Given the description of an element on the screen output the (x, y) to click on. 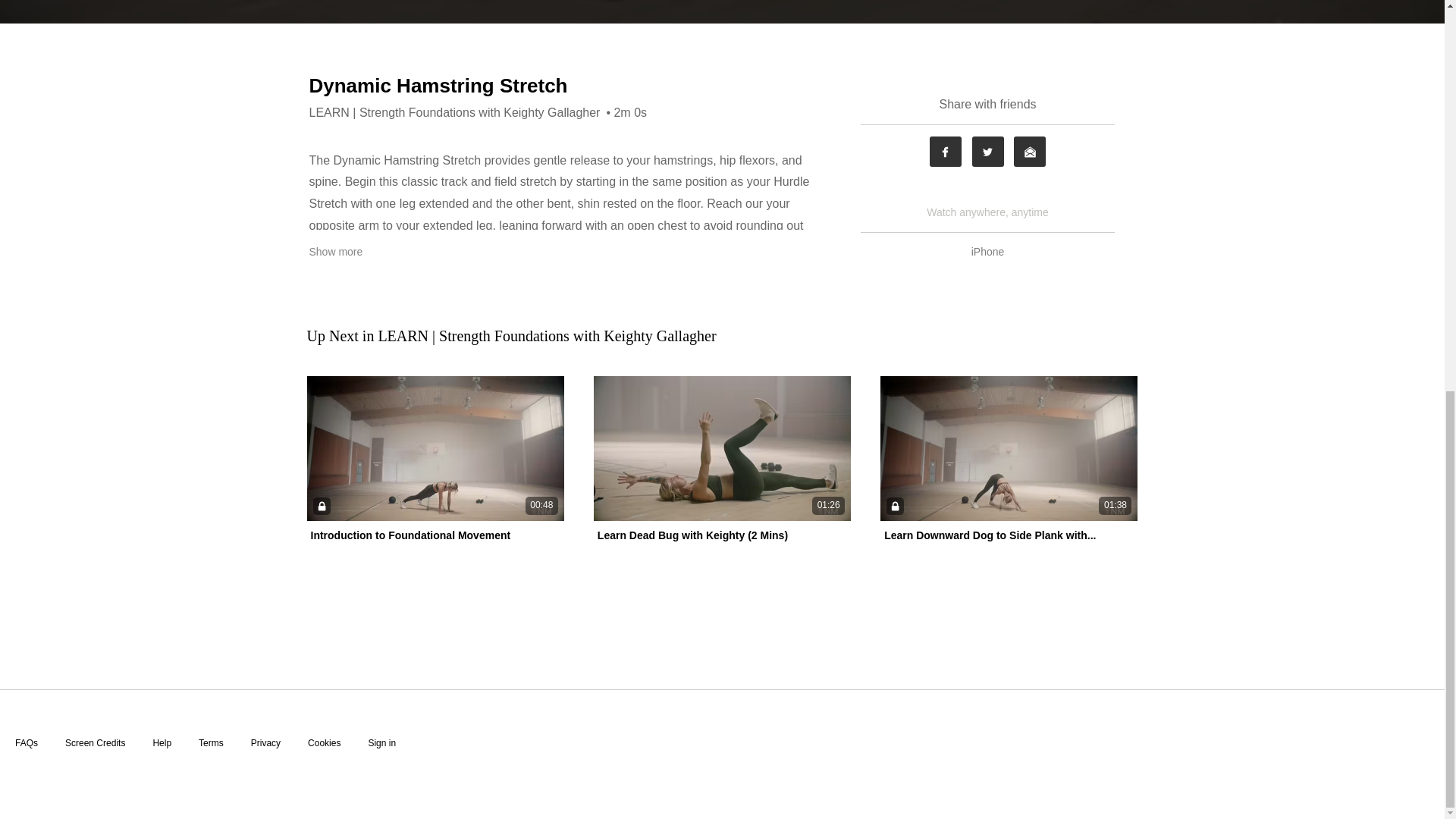
Learn Downward Dog to Side Plank with... (989, 535)
Email (1029, 151)
Facebook (945, 151)
FAQs (25, 742)
iPhone (988, 251)
Introduction to Foundational Movement (411, 535)
Learn Downward Dog to Side Plank with... (989, 535)
Introduction to Foundational Movement (411, 535)
01:26 (722, 447)
00:48 (434, 447)
